Given the description of an element on the screen output the (x, y) to click on. 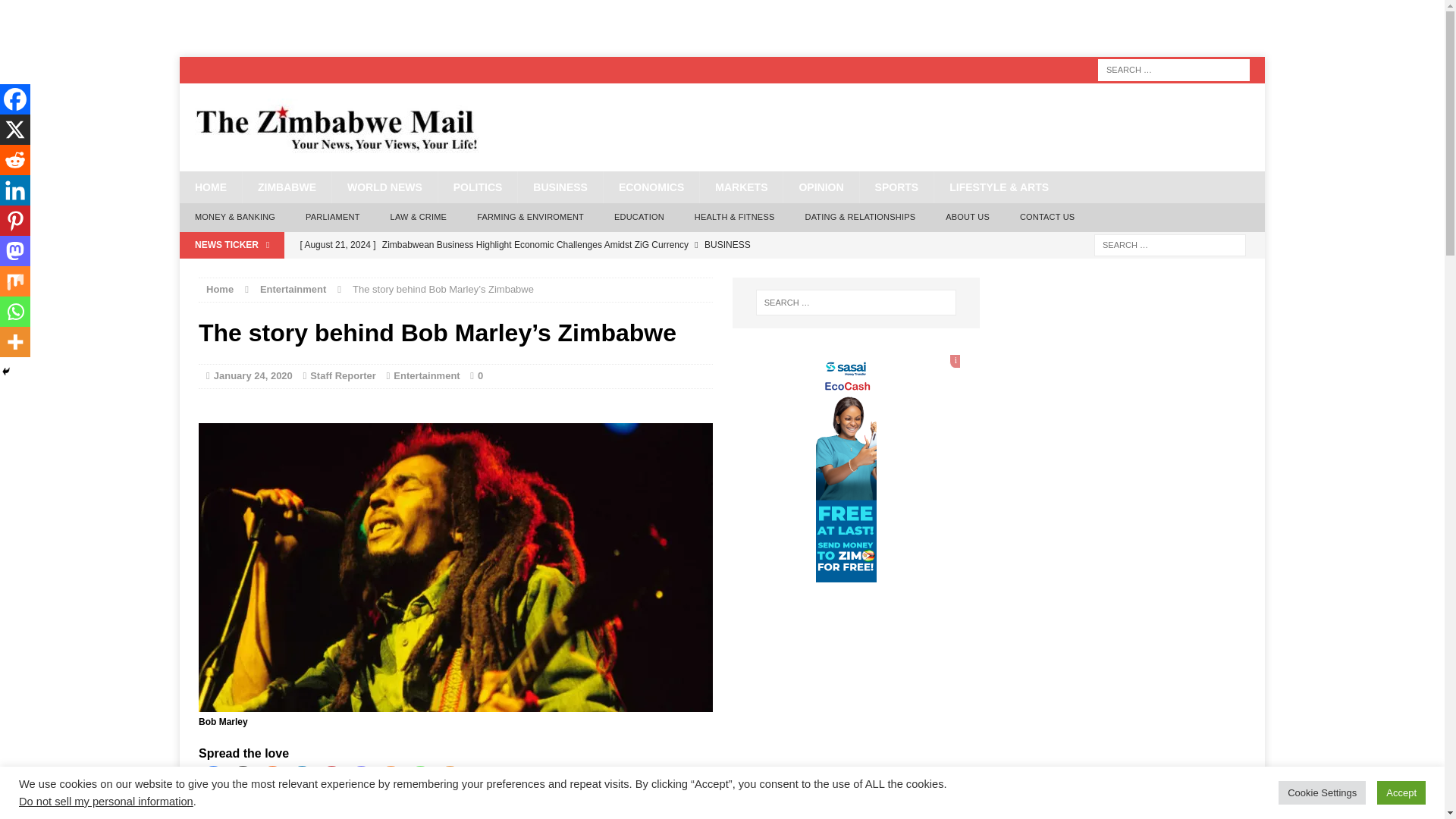
ZIMBABWE (286, 187)
Pinterest (331, 778)
X (243, 778)
SPORTS (896, 187)
Linkedin (301, 778)
Whatsapp (420, 778)
WORLD NEWS (384, 187)
POLITICS (478, 187)
ECONOMICS (650, 187)
Facebook (213, 778)
